Given the description of an element on the screen output the (x, y) to click on. 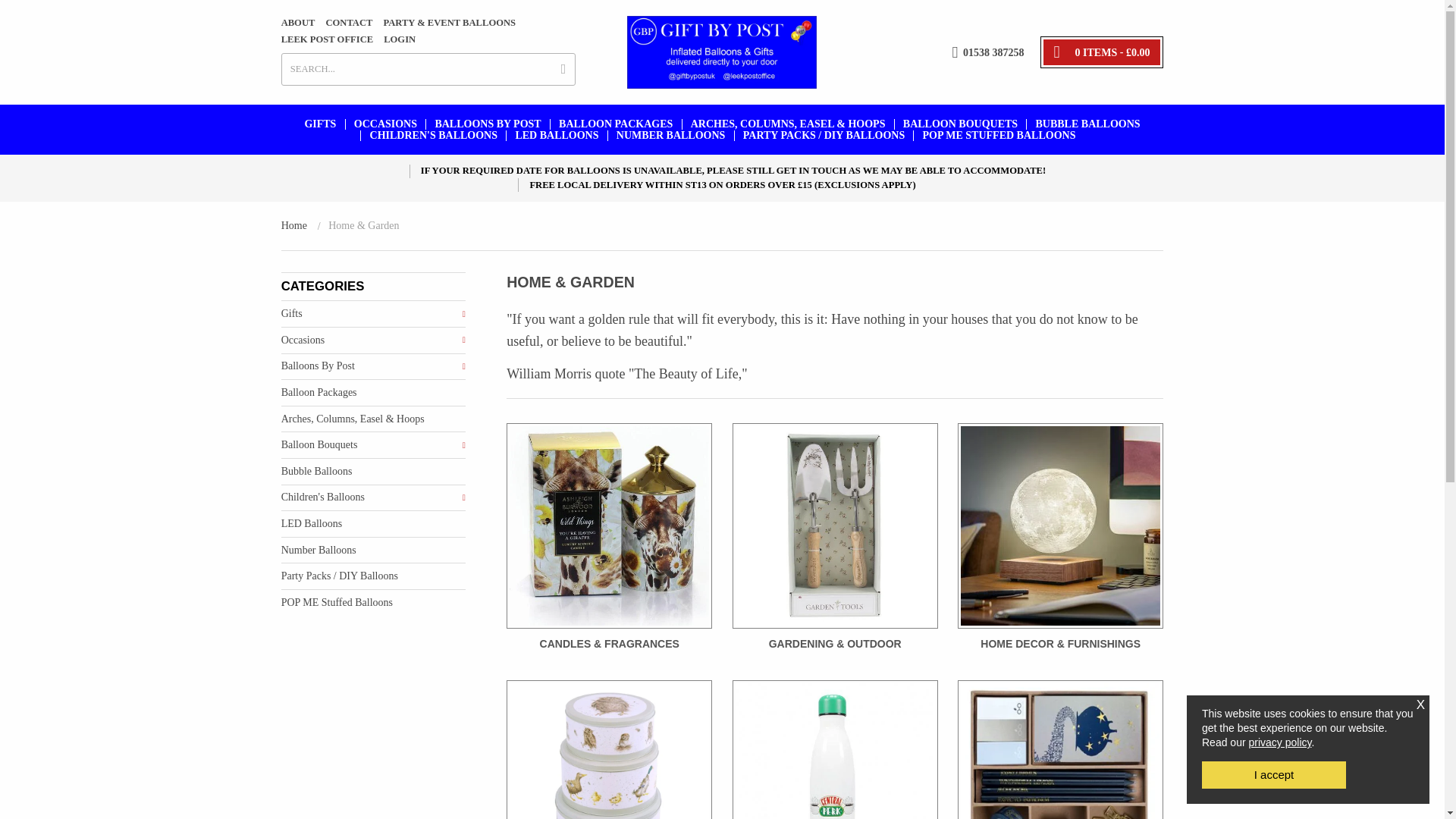
CHILDREN'S BALLOONS (433, 135)
ABOUT (298, 22)
GIFTS (319, 123)
BALLOON PACKAGES (615, 123)
BUBBLE BALLOONS (1087, 123)
LOGIN (399, 40)
BALLOON BOUQUETS (960, 123)
LEEK POST OFFICE (327, 40)
CONTACT (348, 22)
OCCASIONS (386, 123)
BALLOONS BY POST (488, 123)
